Given the description of an element on the screen output the (x, y) to click on. 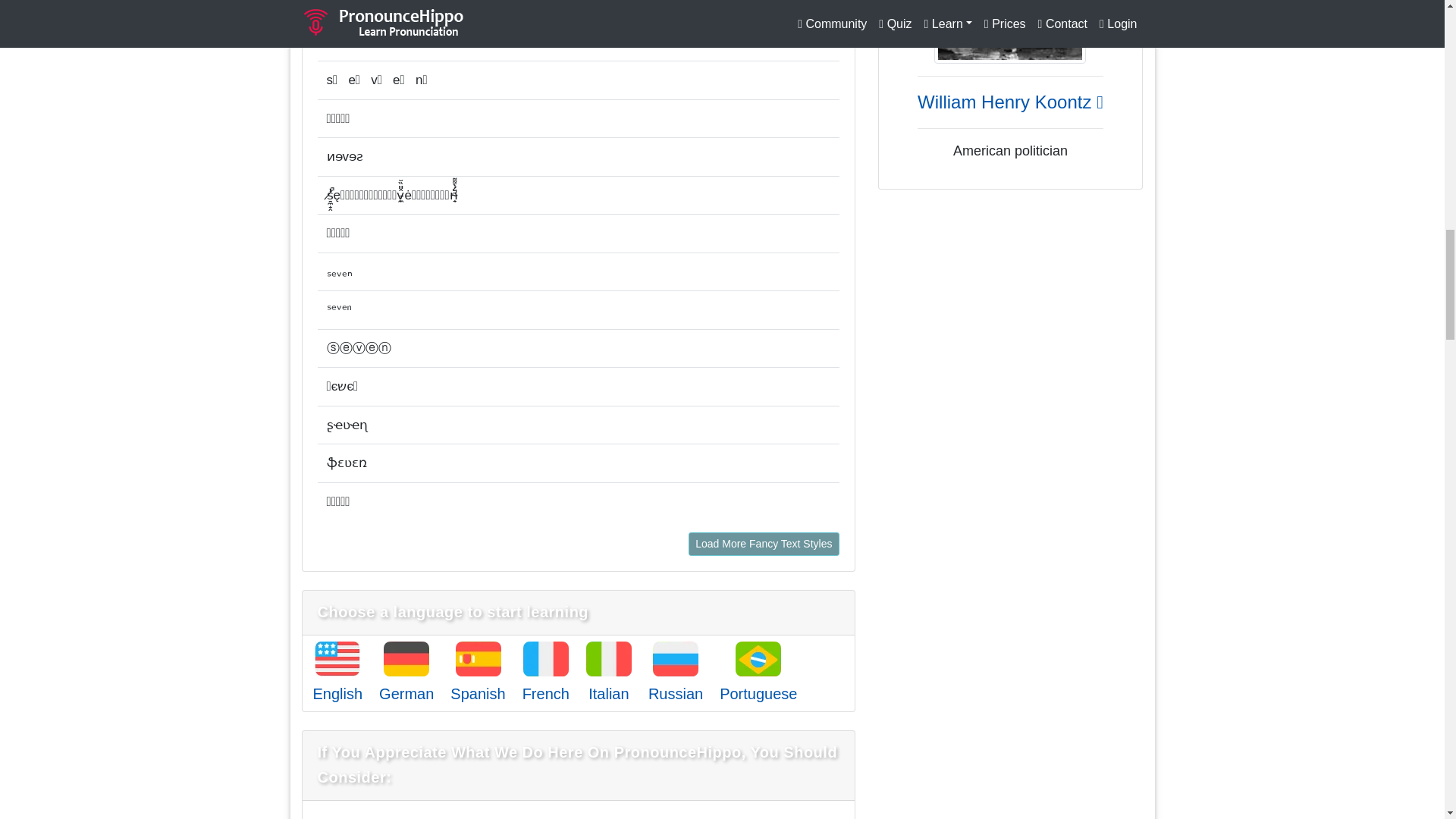
Russian (675, 693)
Italian (608, 693)
Load More Fancy Text Styles (763, 544)
Spanish (477, 693)
French (545, 693)
Portuguese (757, 693)
German (405, 693)
English (337, 693)
